Given the description of an element on the screen output the (x, y) to click on. 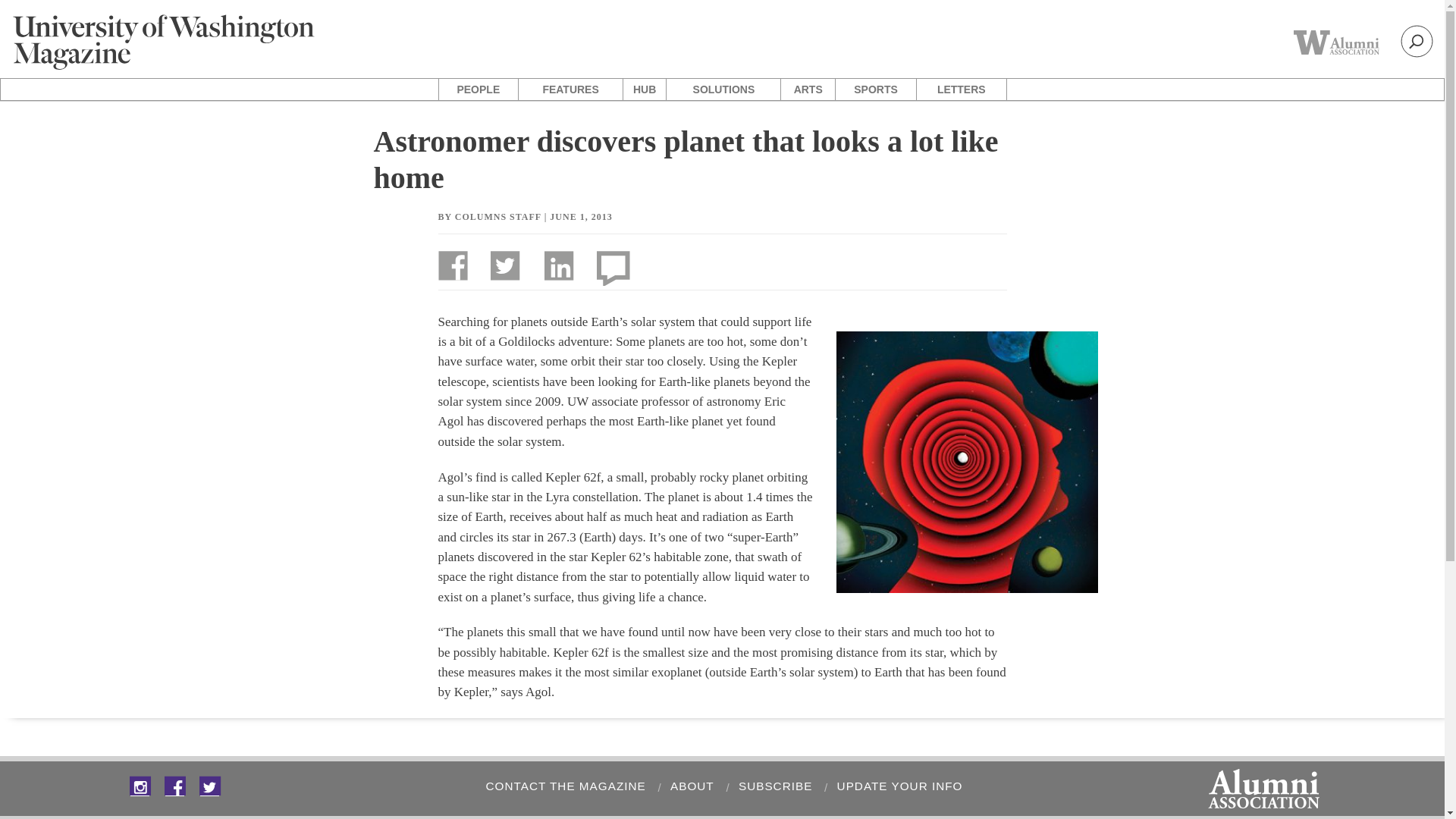
LETTERS (961, 89)
SPORTS (875, 89)
SOLUTIONS (723, 89)
HUB (644, 89)
FEATURES (570, 89)
SUBSCRIBE (772, 785)
CONTACT THE MAGAZINE (563, 785)
UPDATE YOUR INFO (896, 785)
PEOPLE (478, 89)
ABOUT (689, 785)
ARTS (807, 89)
